Given the description of an element on the screen output the (x, y) to click on. 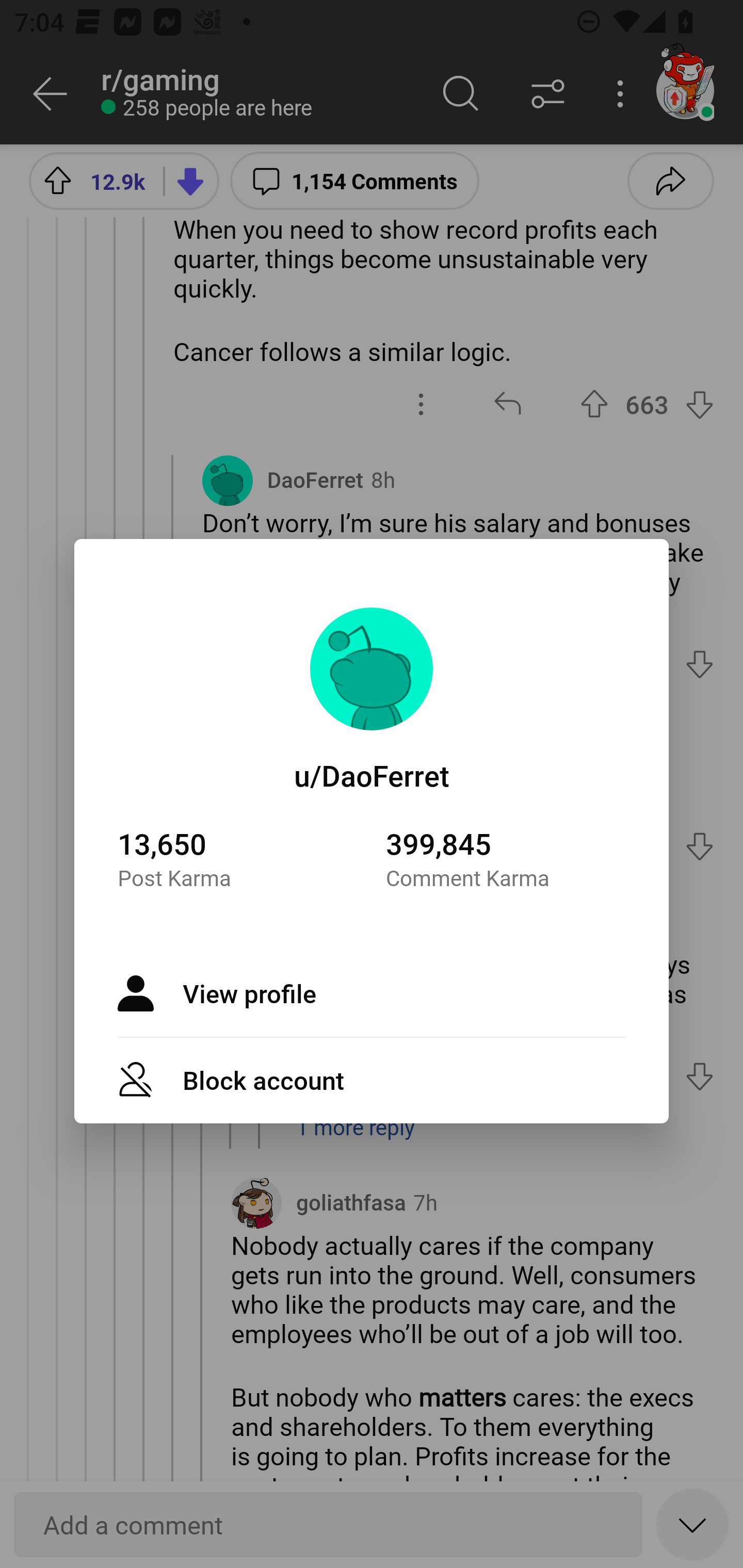
u/DaoFerret (371, 774)
View profile (371, 993)
Block account (371, 1079)
